Given the description of an element on the screen output the (x, y) to click on. 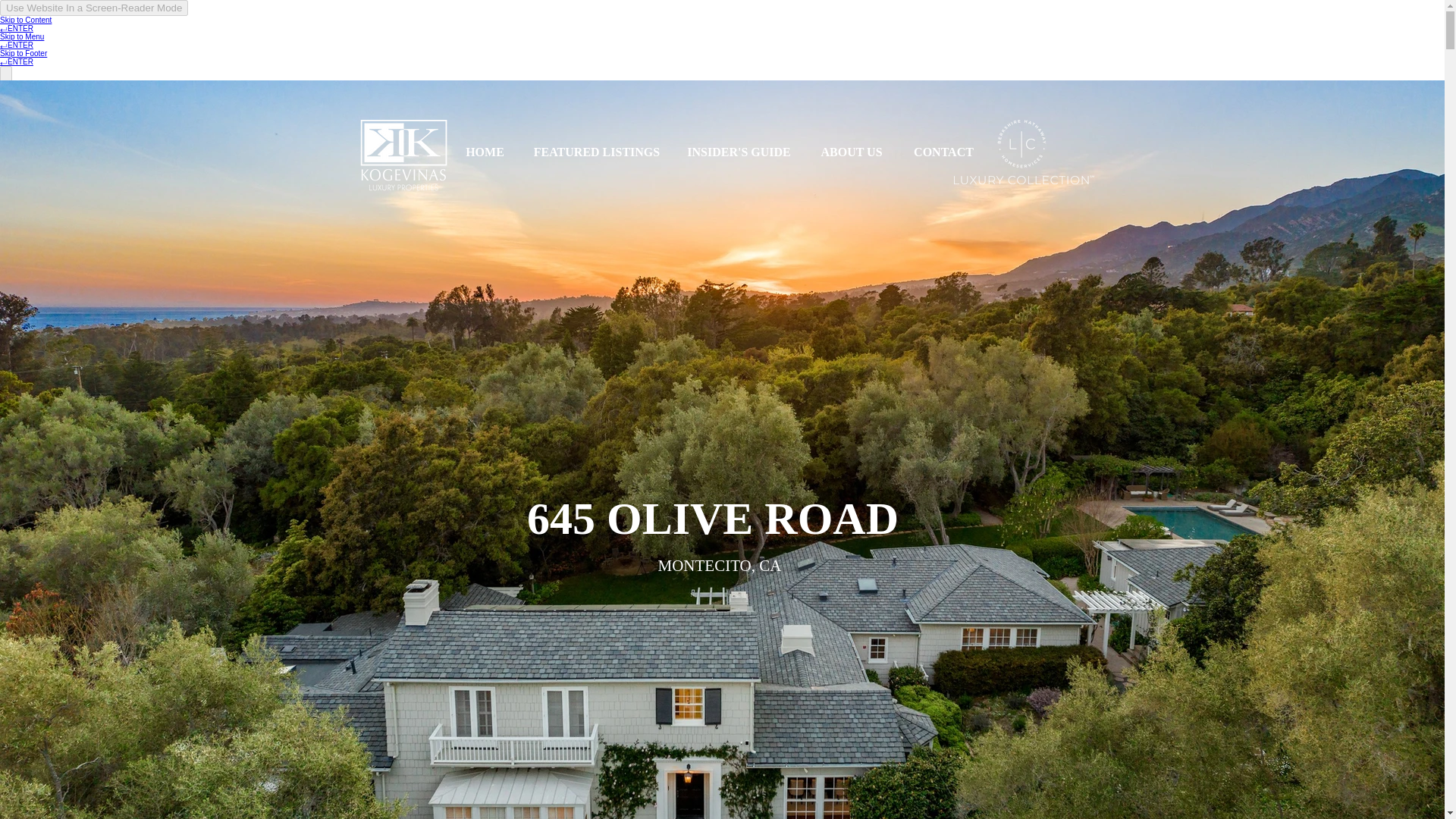
INSIDER'S GUIDE (893, 204)
ABOUT US (1030, 204)
INSIDER'S GUIDE (737, 151)
HOME (484, 151)
HOME (594, 204)
CONTACT (1145, 204)
ABOUT US (850, 151)
CONTACT (943, 151)
